Given the description of an element on the screen output the (x, y) to click on. 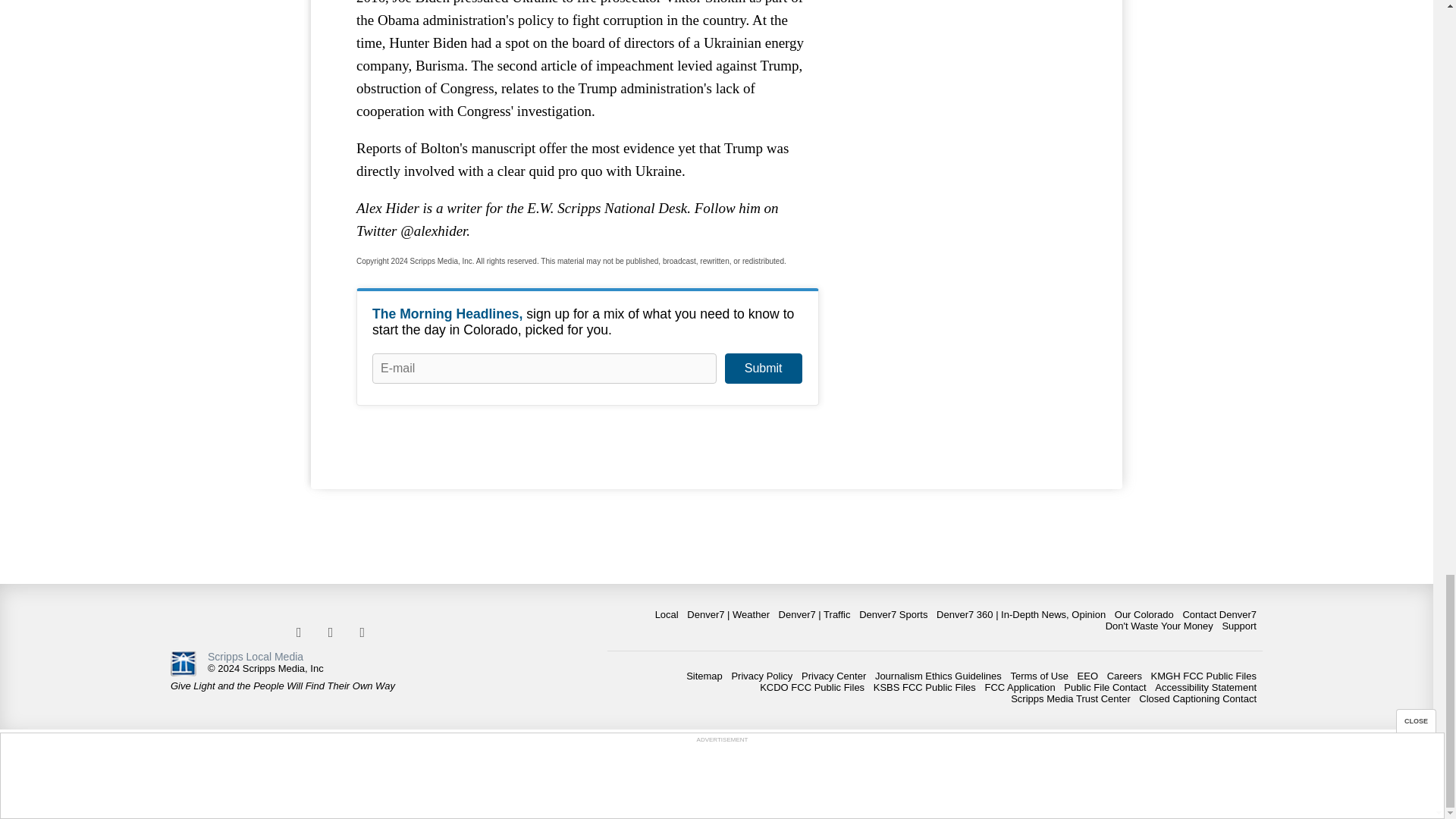
Submit (763, 368)
